Given the description of an element on the screen output the (x, y) to click on. 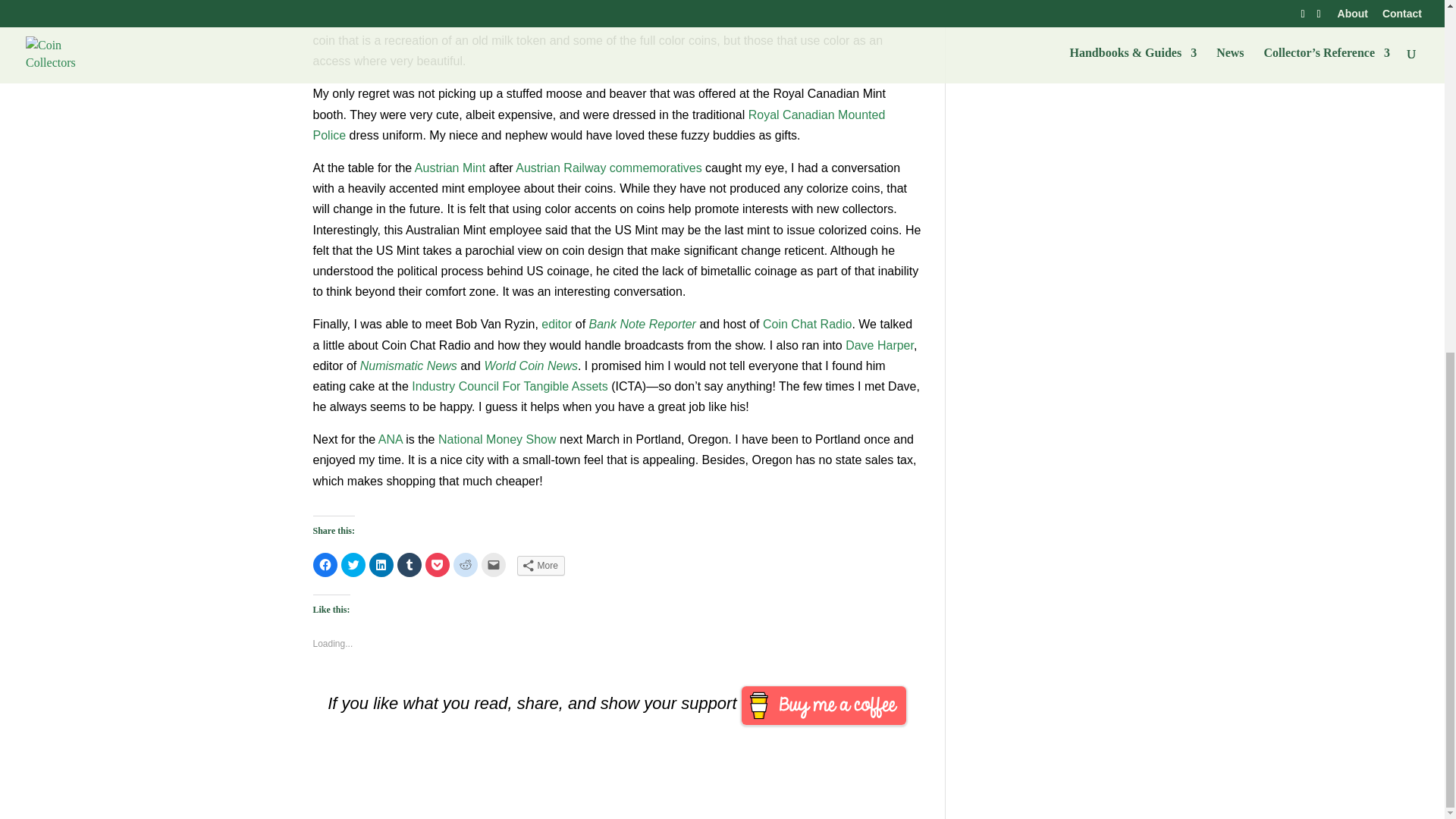
Click to share on LinkedIn (380, 564)
Click to share on Facebook (324, 564)
Click to share on Tumblr (409, 564)
Click to share on Twitter (352, 564)
Royal Canadian Mounted Police (599, 124)
Click to share on Reddit (464, 564)
Click to email a link to a friend (492, 564)
Click to share on Pocket (436, 564)
